Given the description of an element on the screen output the (x, y) to click on. 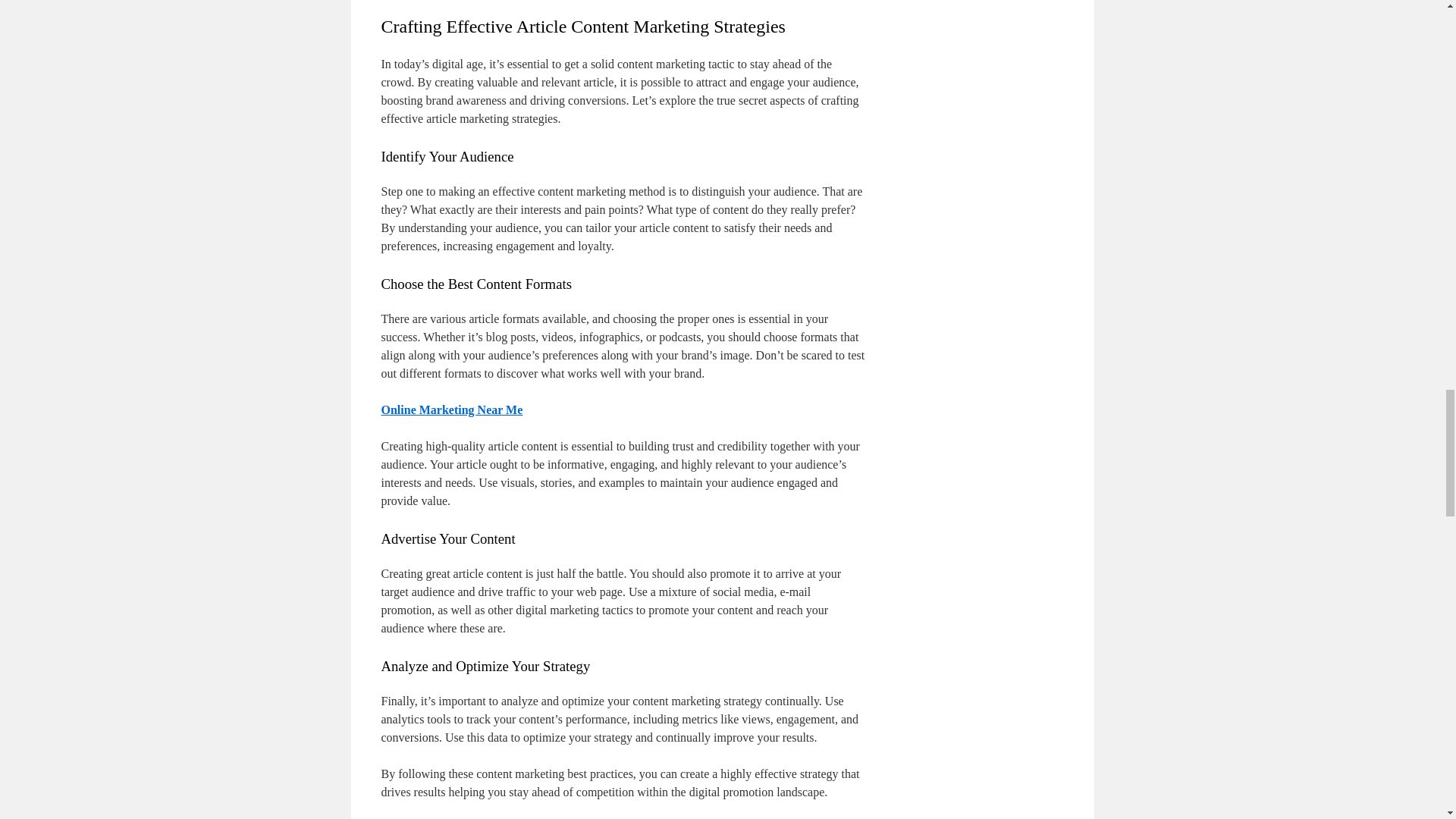
Online Marketing Near Me (451, 409)
